Given the description of an element on the screen output the (x, y) to click on. 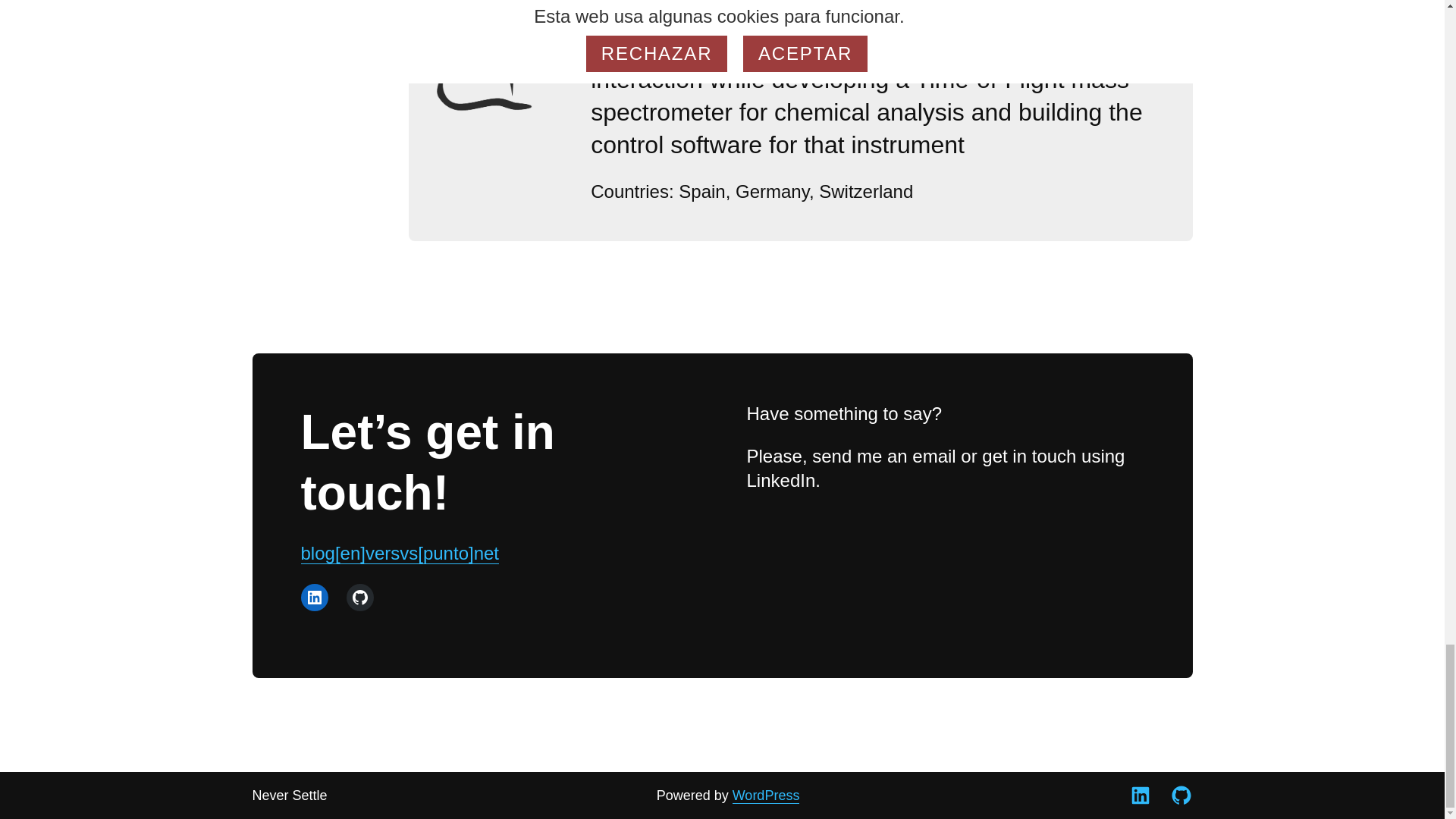
LinkedIn (1139, 794)
WordPress (765, 795)
GitHub (1180, 794)
LinkedIn (313, 596)
GitHub (359, 596)
